Given the description of an element on the screen output the (x, y) to click on. 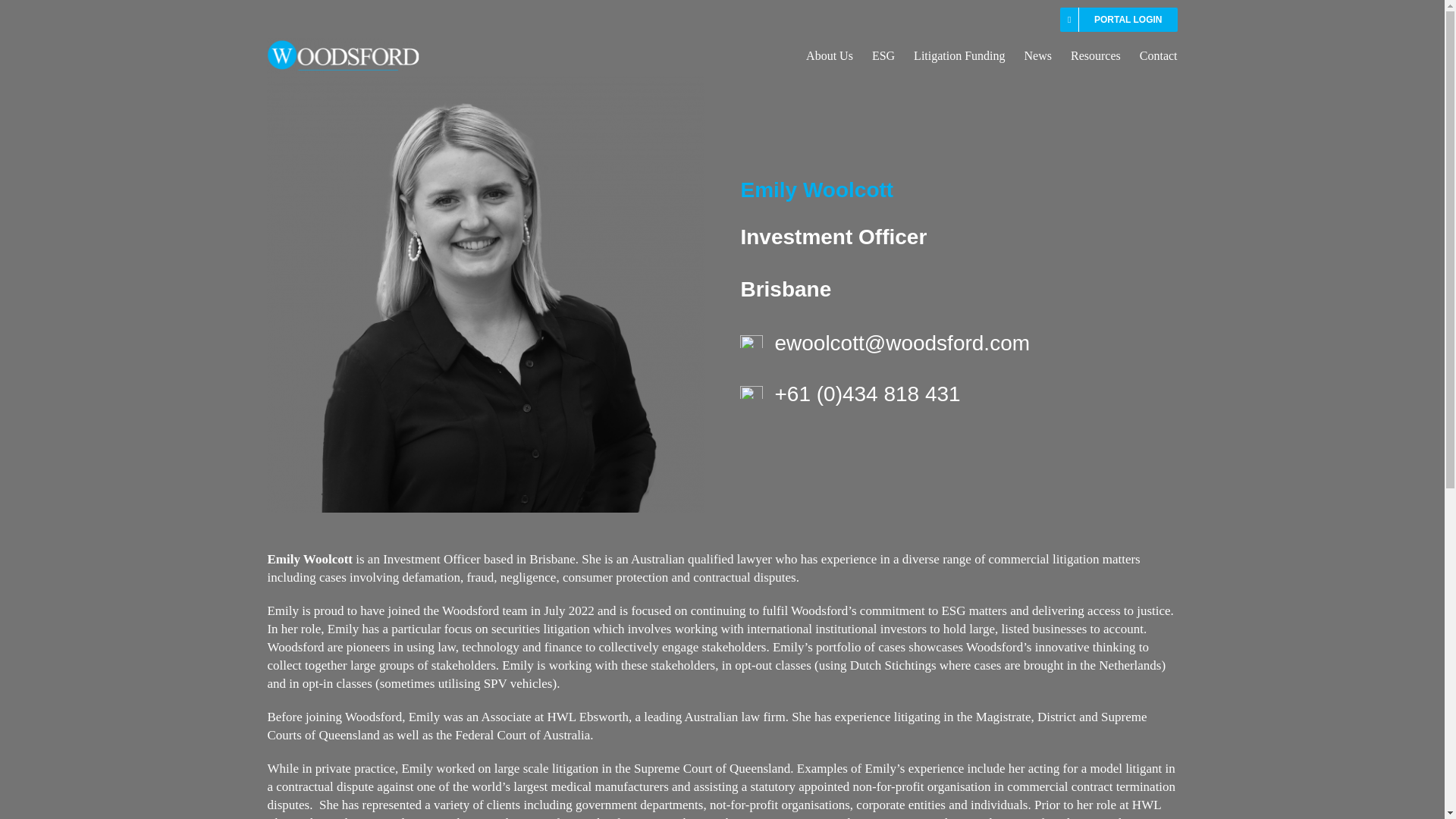
Litigation Funding (959, 40)
PORTAL LOGIN (1118, 19)
About Us (829, 40)
Resources (1095, 40)
